Given the description of an element on the screen output the (x, y) to click on. 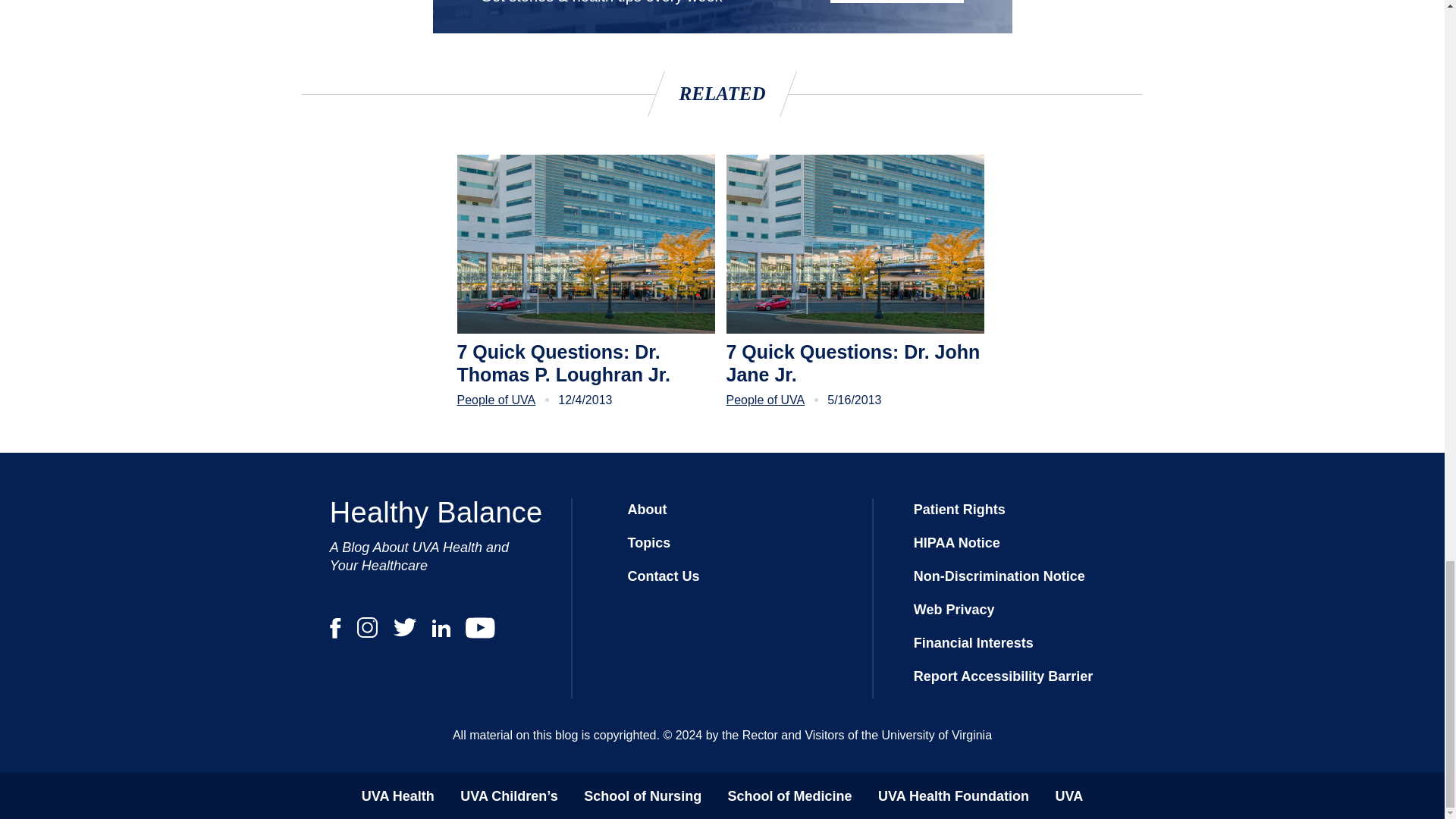
Topics (648, 542)
Financial Interests (973, 642)
7 Quick Questions: Dr. John Jane Jr. (855, 362)
Contact Us (662, 575)
SIGN UP NOW (896, 1)
Web Privacy (954, 609)
People of UVA (496, 399)
Patient Rights (960, 509)
Report Accessibility Barrier (1003, 676)
7 Quick Questions: Dr. Thomas P. Loughran Jr. (585, 362)
Non-Discrimination Notice (999, 575)
People of UVA (765, 399)
About (646, 509)
HIPAA Notice (957, 542)
